Given the description of an element on the screen output the (x, y) to click on. 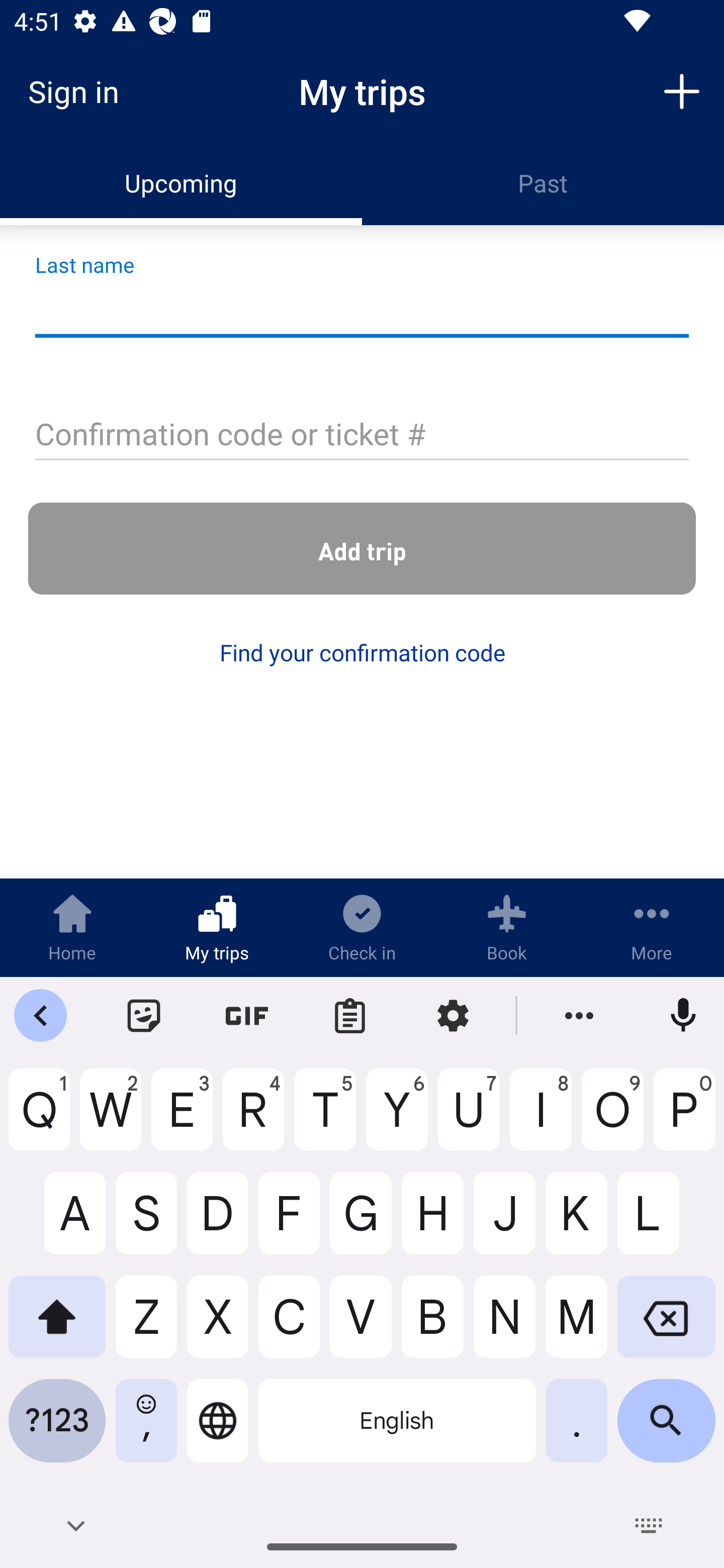
Sign in (80, 91)
Add trip (681, 90)
Past (543, 183)
Last name (361, 310)
Confirmation code or ticket # (361, 435)
Add trip (361, 548)
Home (72, 927)
Check in (361, 927)
Book (506, 927)
More (651, 927)
